Given the description of an element on the screen output the (x, y) to click on. 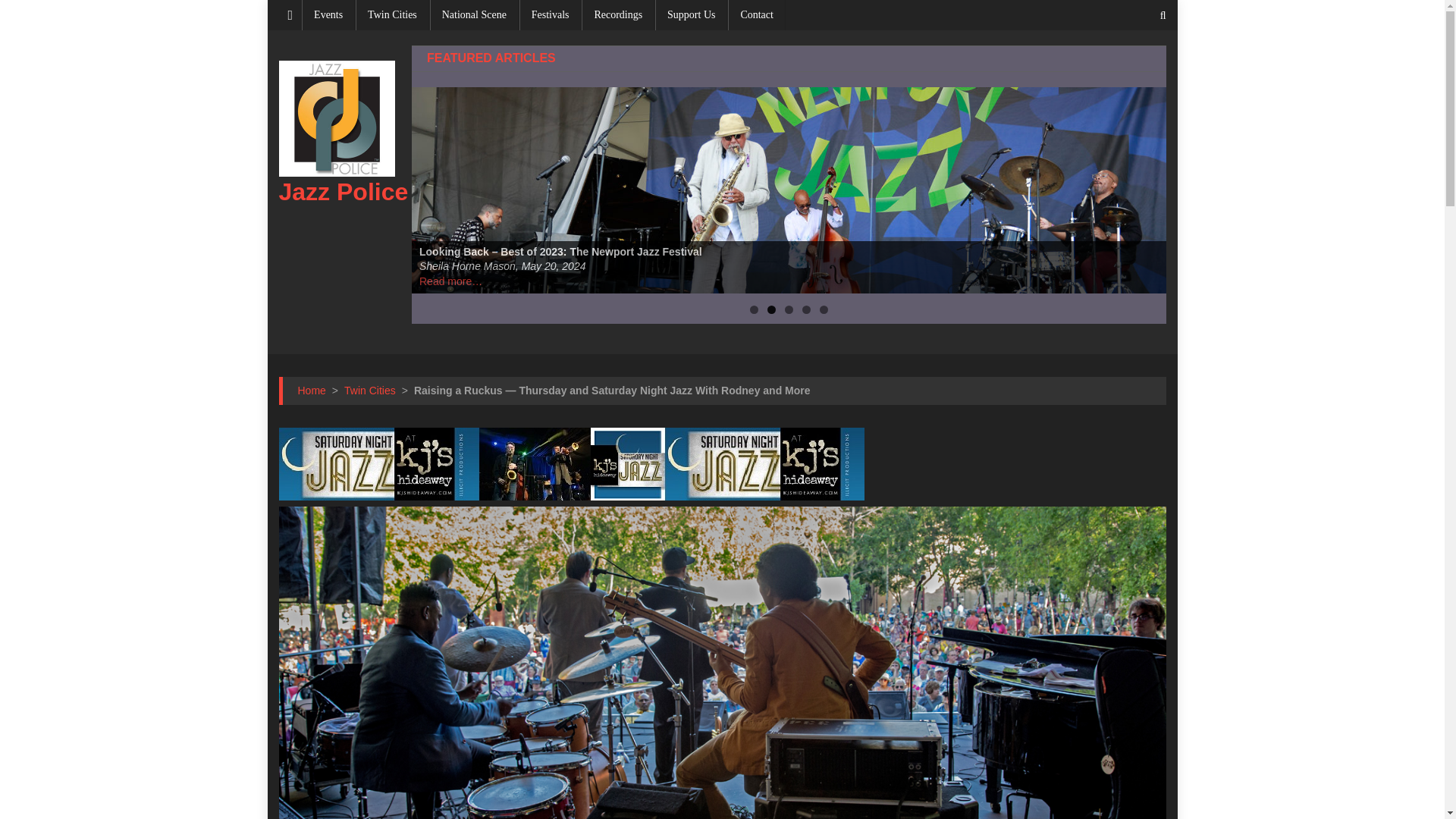
3 (788, 309)
Skip to content (301, 9)
1 (753, 309)
Search (1133, 65)
Home (310, 390)
Support Us (690, 15)
Festivals (549, 15)
2 (771, 309)
Twin Cities (369, 390)
4 (806, 309)
